Given the description of an element on the screen output the (x, y) to click on. 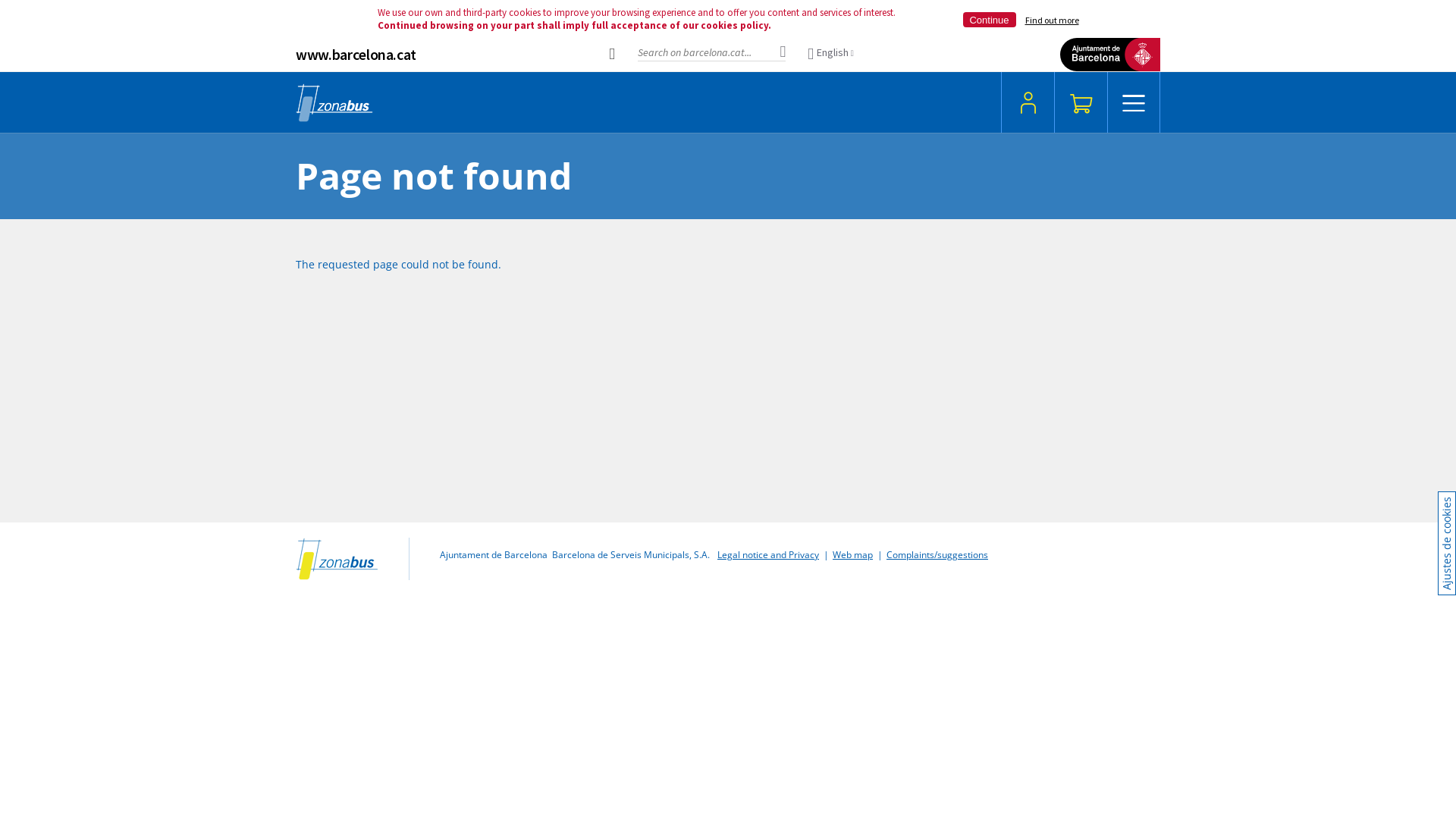
barcelona.cat shortcuts Element type: hover (611, 52)
English Element type: text (830, 53)
Legal notice and Privacy Element type: text (768, 554)
Web map Element type: text (852, 554)
Complaints/suggestions Element type: text (937, 554)
Shopping cart Element type: hover (1080, 102)
Home Element type: hover (334, 102)
www.barcelona.cat Element type: text (355, 53)
Continue Element type: text (989, 19)
Home Element type: hover (336, 558)
Find out more Element type: text (1052, 19)
Skip to main content Element type: text (0, 72)
